Given the description of an element on the screen output the (x, y) to click on. 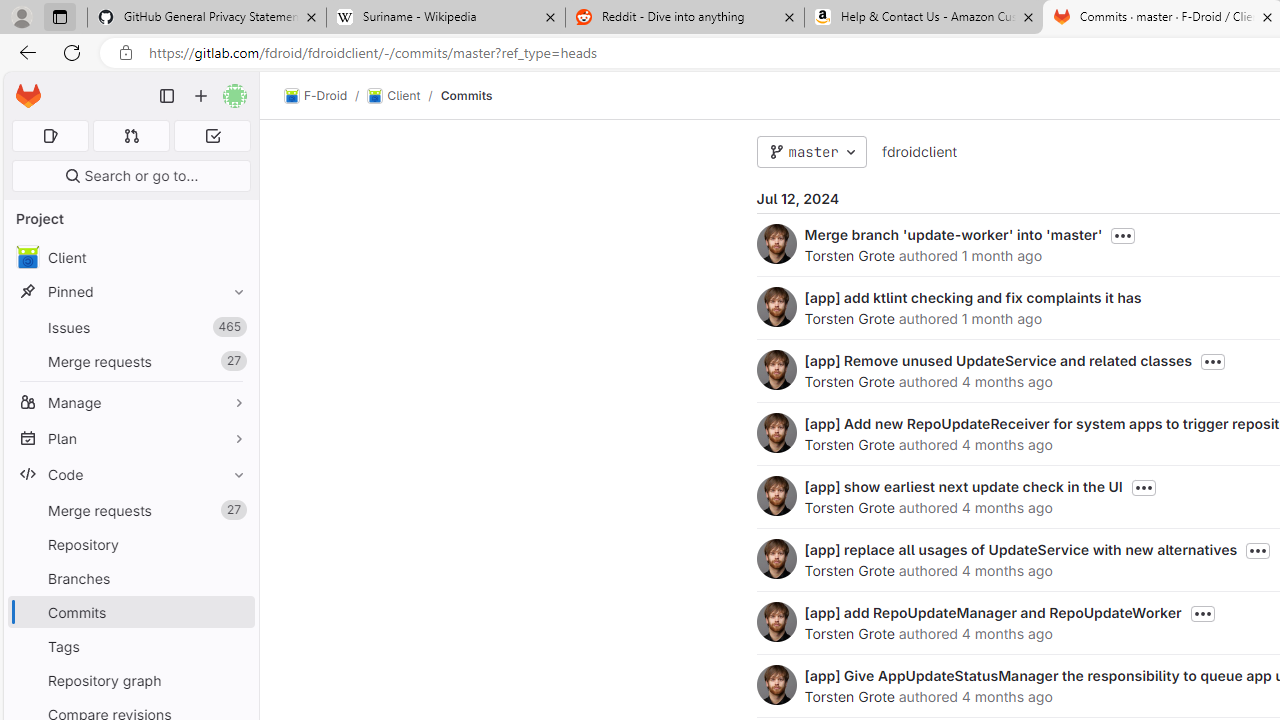
Merge branch 'update-worker' into 'master' (953, 234)
Pin Commits (234, 611)
Issues465 (130, 327)
Torsten Grote's avatar (776, 684)
Commits (466, 95)
master (811, 151)
Plan (130, 438)
